Given the description of an element on the screen output the (x, y) to click on. 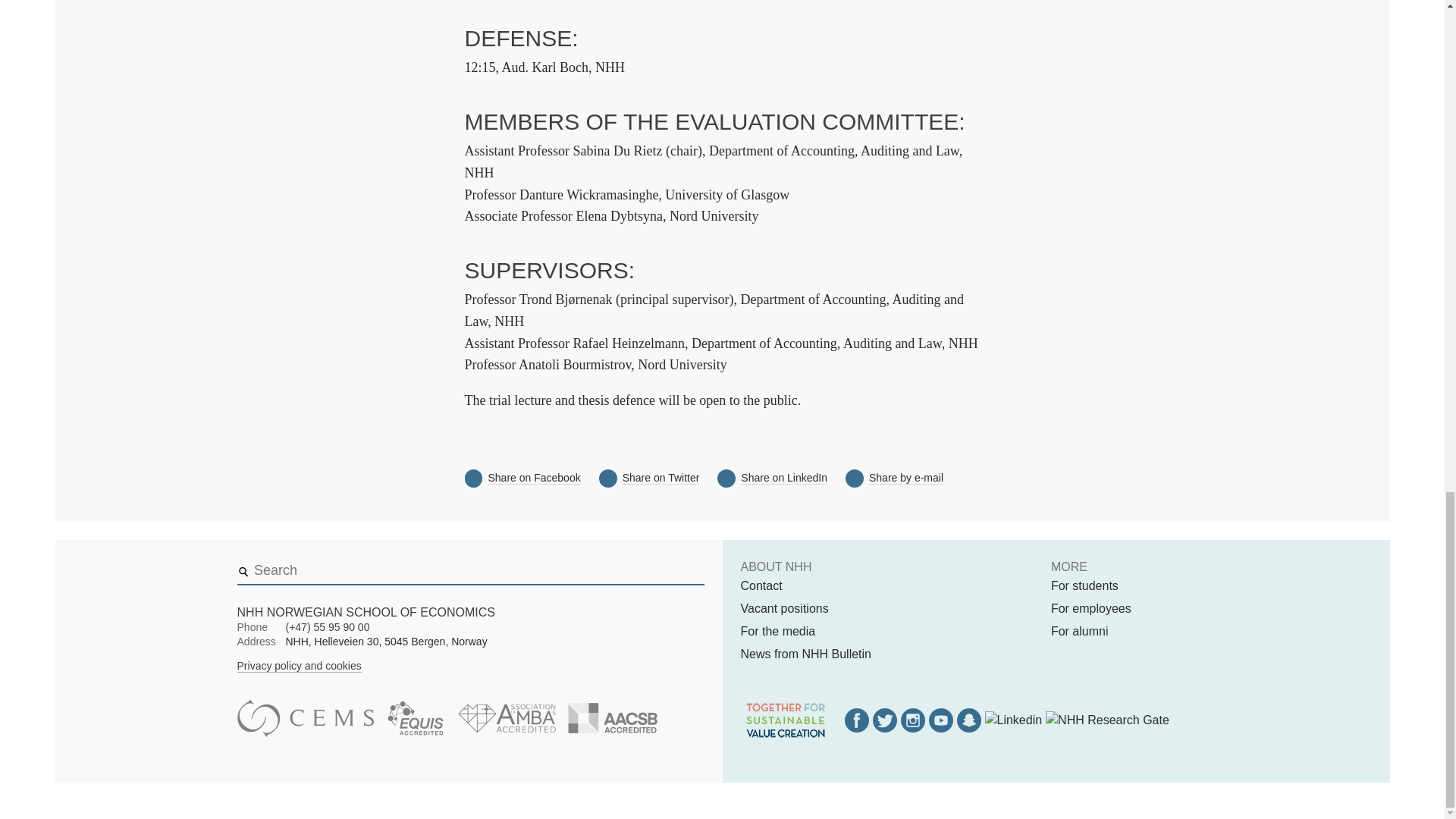
Share by e-mail (906, 477)
Share on Facebook (533, 477)
Privacy policy and cookies (299, 666)
For the media (777, 630)
For alumni (1079, 630)
For employees (1091, 608)
Vacant positions (783, 608)
For students (1084, 585)
Share on LinkedIn (784, 477)
Contact (760, 585)
News from NHH Bulletin (804, 653)
Share on Twitter (661, 477)
